Given the description of an element on the screen output the (x, y) to click on. 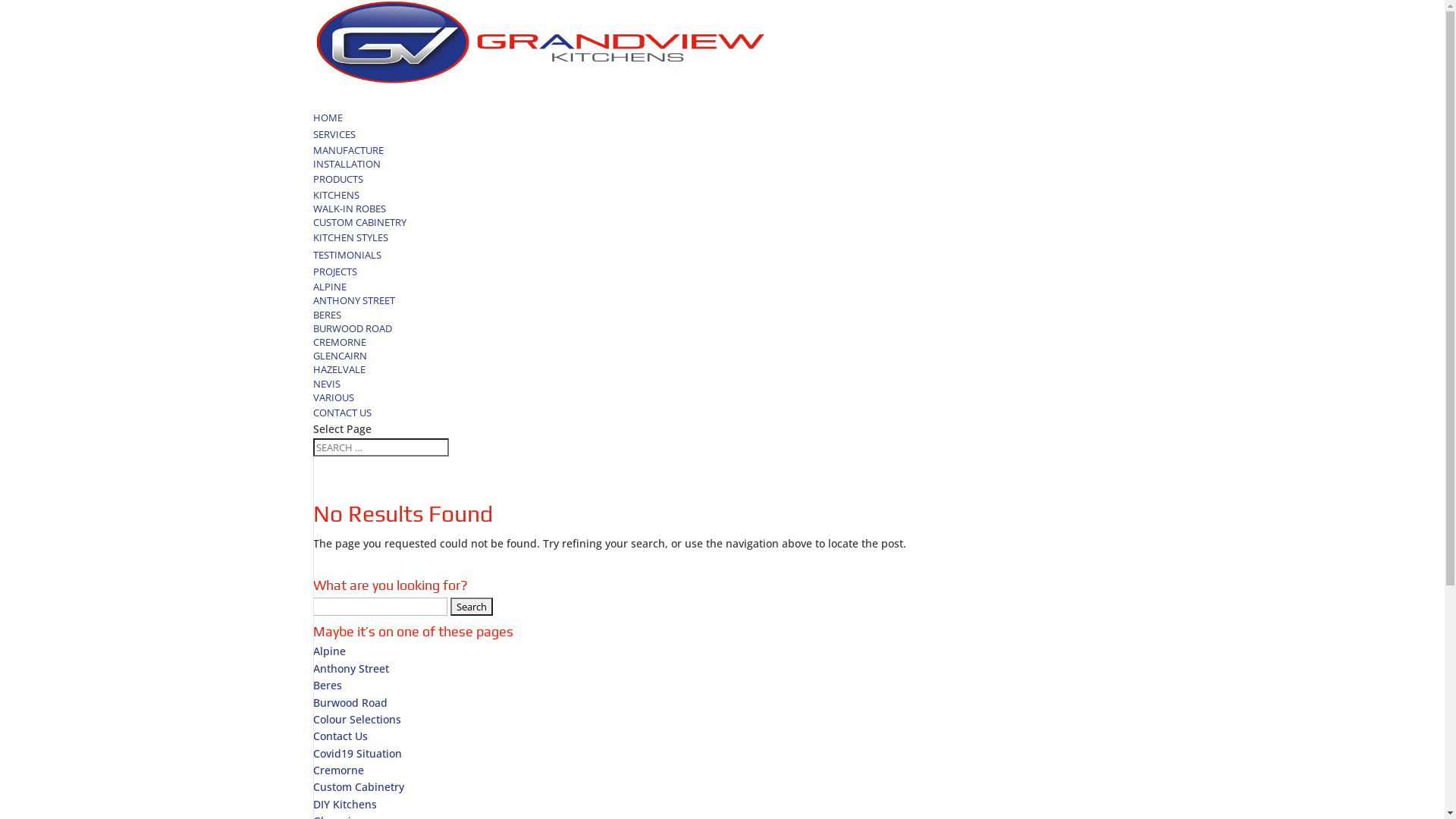
WALK-IN ROBES Element type: text (348, 208)
HOME Element type: text (327, 127)
CREMORNE Element type: text (338, 341)
CUSTOM CABINETRY Element type: text (358, 222)
KITCHEN STYLES Element type: text (349, 246)
ALPINE Element type: text (328, 286)
BERES Element type: text (326, 314)
CONTACT US Element type: text (341, 422)
Covid19 Situation Element type: text (356, 753)
BURWOOD ROAD Element type: text (351, 328)
Beres Element type: text (326, 684)
VARIOUS Element type: text (332, 397)
Cremorne Element type: text (337, 769)
Custom Cabinetry Element type: text (357, 786)
MANUFACTURE Element type: text (347, 149)
PRODUCTS Element type: text (337, 188)
INSTALLATION Element type: text (345, 163)
TESTIMONIALS Element type: text (346, 263)
Contact Us Element type: text (339, 735)
PROJECTS Element type: text (334, 281)
HAZELVALE Element type: text (338, 369)
SERVICES Element type: text (333, 143)
Burwood Road Element type: text (349, 701)
GLENCAIRN Element type: text (339, 355)
ANTHONY STREET Element type: text (353, 300)
Colour Selections Element type: text (356, 719)
Alpine Element type: text (328, 650)
Search for: Element type: hover (380, 447)
Search Element type: text (471, 606)
KITCHENS Element type: text (335, 194)
Anthony Street Element type: text (350, 668)
DIY Kitchens Element type: text (344, 804)
NEVIS Element type: text (325, 383)
